Given the description of an element on the screen output the (x, y) to click on. 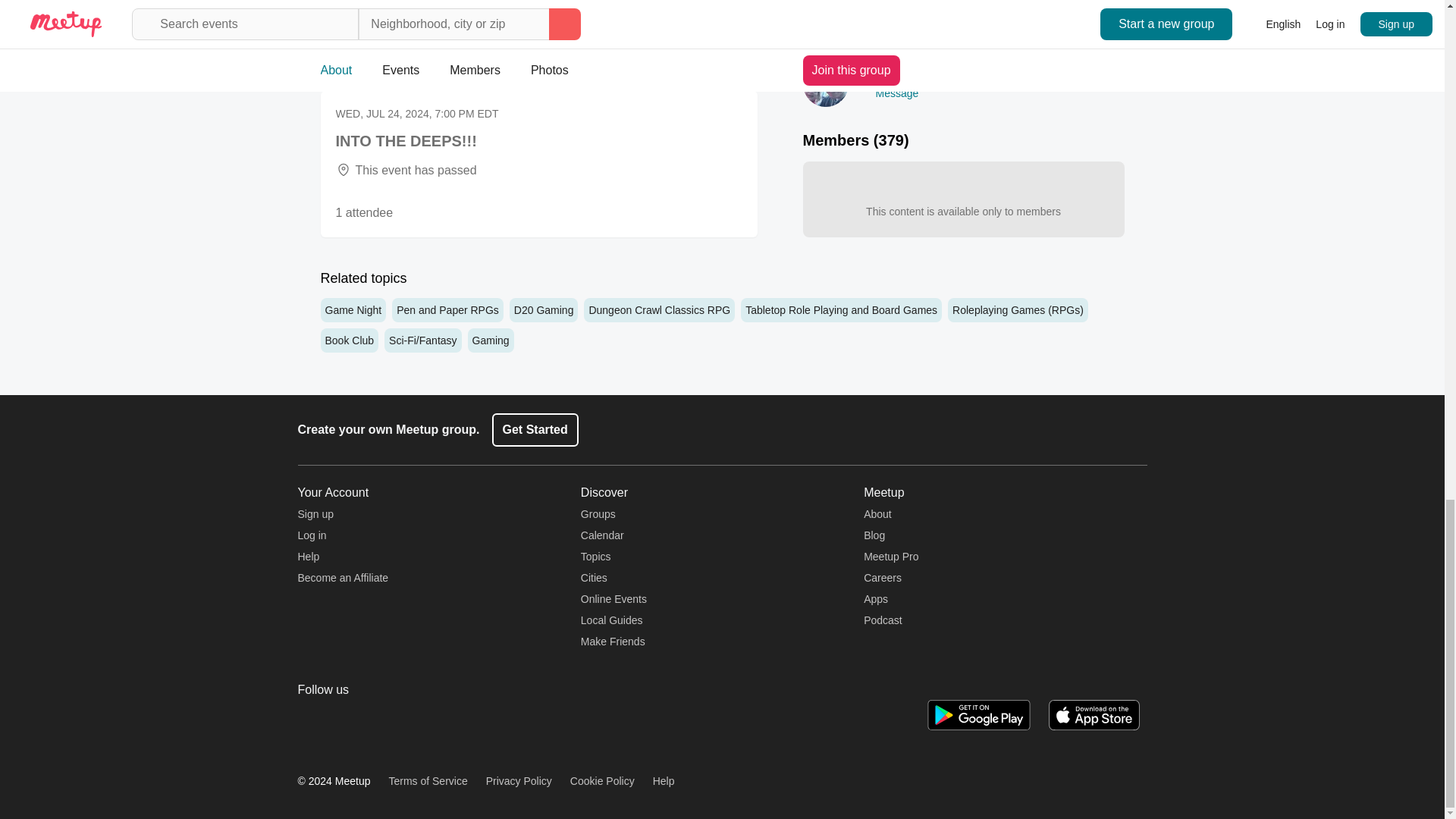
See all (738, 69)
Attend (713, 10)
